Given the description of an element on the screen output the (x, y) to click on. 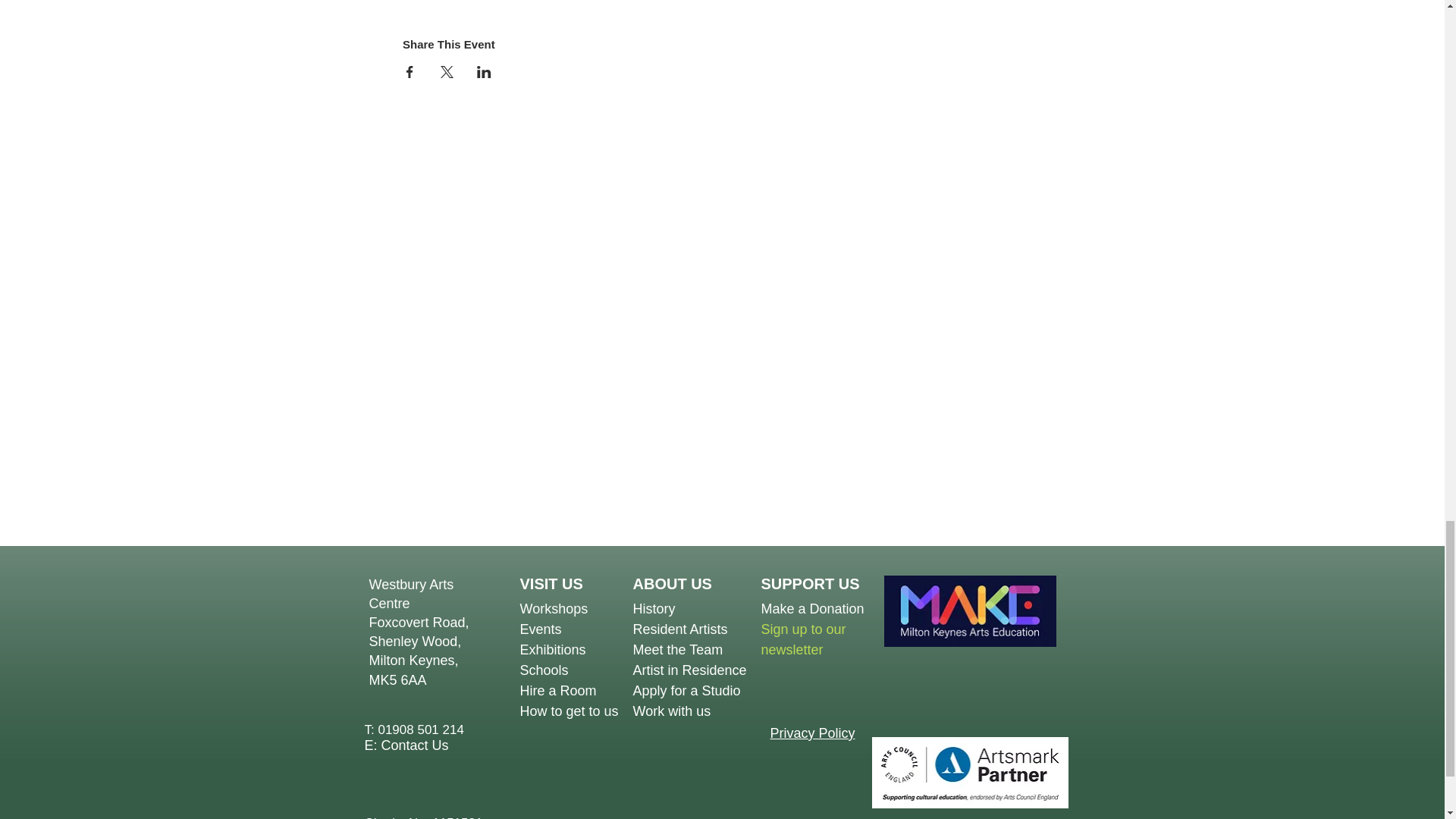
ABOUT US (671, 583)
E: Contact Us (406, 745)
Exhibitions (552, 649)
Schools (544, 670)
VISIT US (551, 583)
Artist in Residence (688, 670)
SUPPORT US (810, 583)
Apply for a Studio (685, 690)
How to get to us (568, 711)
History (653, 608)
Work with us (670, 711)
Events (540, 629)
Workshops (553, 608)
Hire a Room (678, 639)
